Given the description of an element on the screen output the (x, y) to click on. 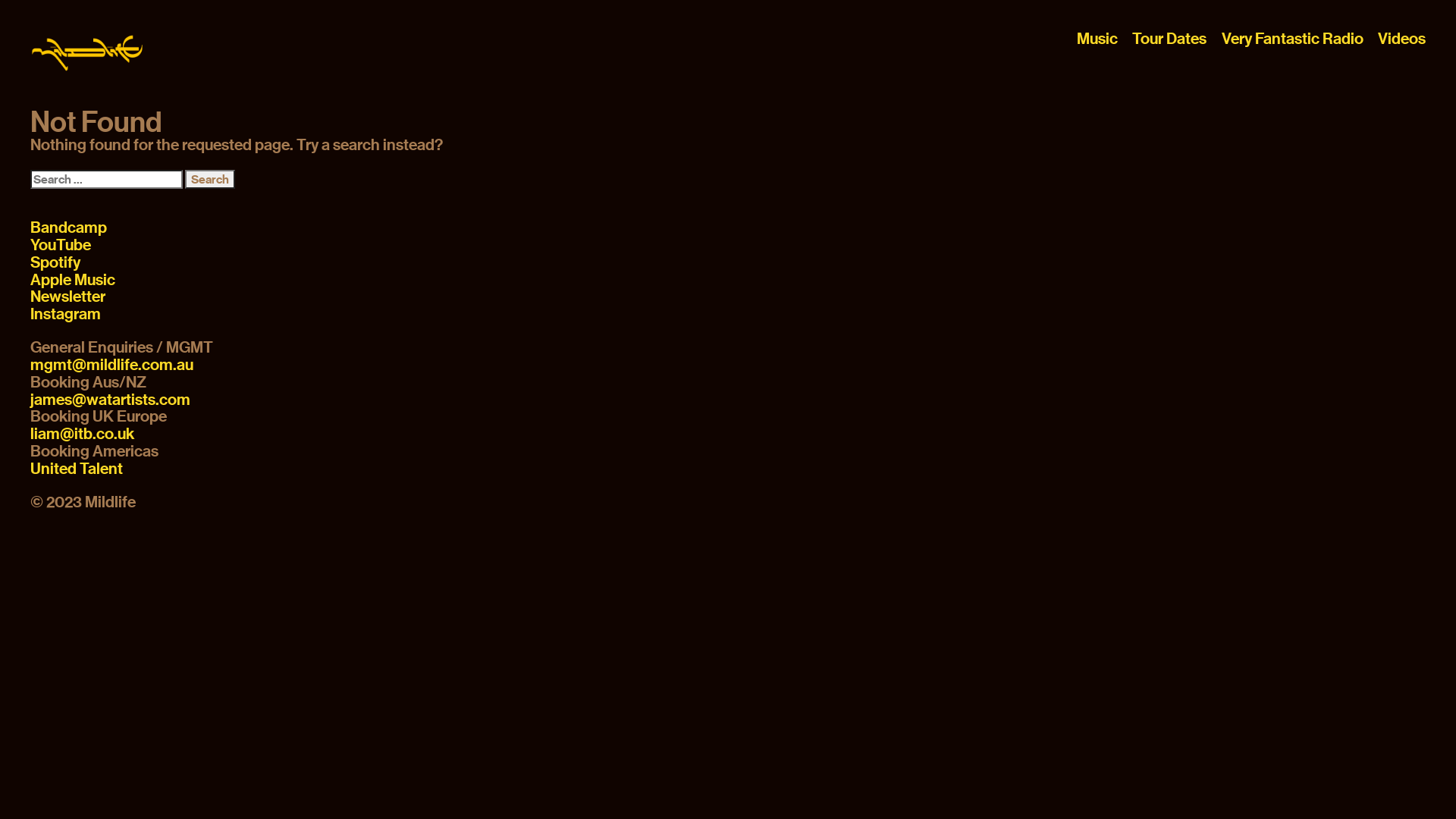
Videos Element type: text (1401, 38)
Instagram Element type: text (65, 313)
Bandcamp Element type: text (68, 227)
james@watartists.com Element type: text (110, 399)
Search Element type: text (210, 178)
Music Element type: text (1096, 38)
liam@itb.co.uk Element type: text (82, 433)
Apple Music Element type: text (72, 279)
Newsletter Element type: text (67, 296)
mgmt@mildlife.com.au Element type: text (111, 364)
Very Fantastic Radio Element type: text (1292, 38)
United Talent Element type: text (76, 468)
Tour Dates Element type: text (1169, 38)
Spotify Element type: text (55, 262)
YouTube Element type: text (60, 244)
